Given the description of an element on the screen output the (x, y) to click on. 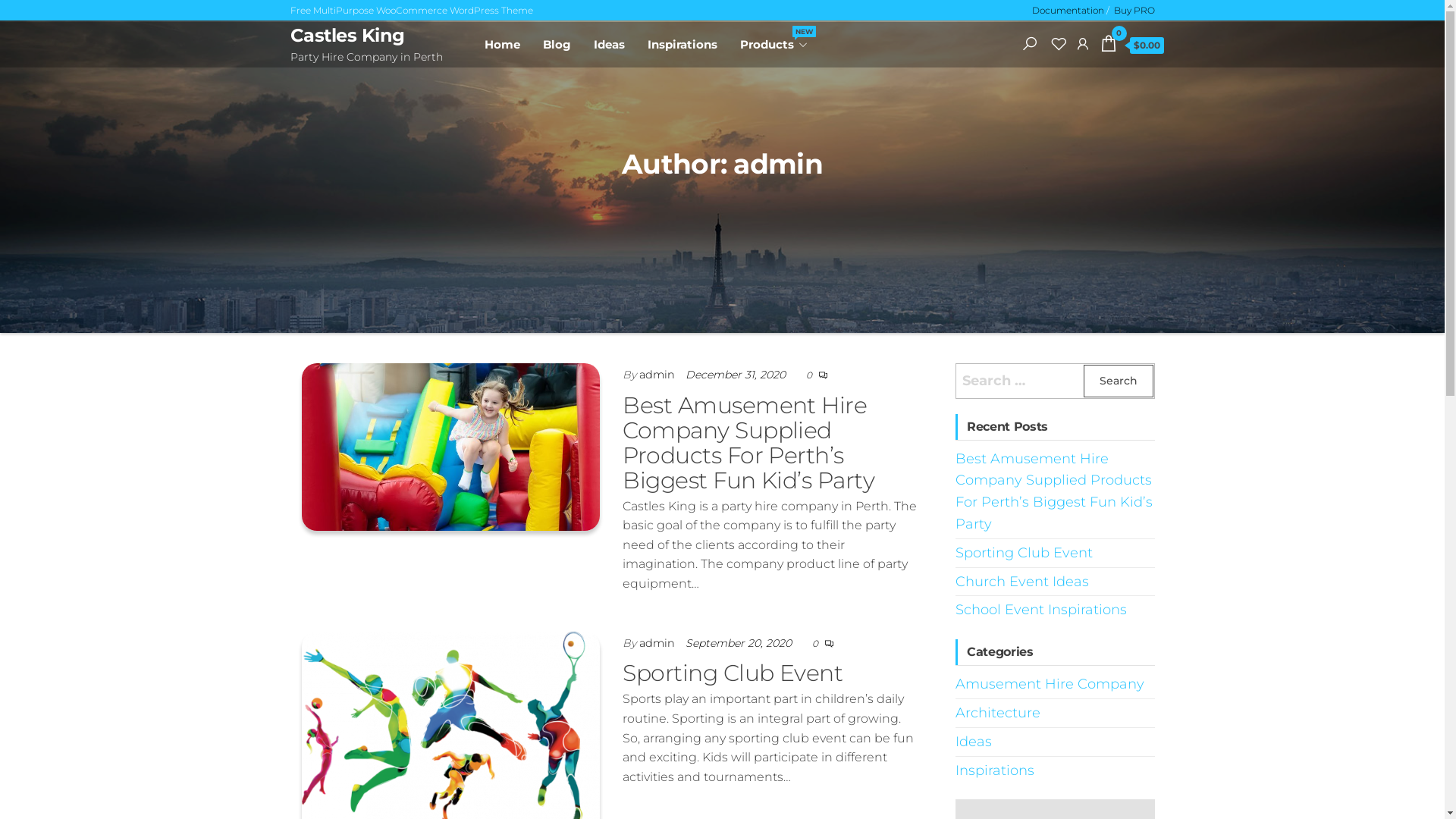
School Event Inspirations Element type: text (1040, 609)
Sporting Club Event Element type: hover (450, 732)
0 Element type: text (810, 374)
Documentation Element type: text (1067, 9)
0
$0.00 Element type: text (1130, 45)
Blog Element type: text (555, 44)
0 Element type: text (816, 643)
Church Event Ideas Element type: text (1021, 581)
Inspirations Element type: text (681, 44)
Buy PRO Element type: text (1133, 9)
Products
NEW Element type: text (768, 44)
Inspirations Element type: text (994, 770)
Amusement Hire Company Element type: text (1049, 683)
Search Element type: hover (1028, 43)
Sporting Club Event Element type: text (1023, 552)
My Account Element type: hover (1081, 43)
Ideas Element type: text (609, 44)
Architecture Element type: text (997, 712)
Home Element type: text (502, 44)
Sporting Club Event Element type: text (732, 672)
Search Element type: text (1117, 380)
Wishlist Element type: hover (1057, 43)
Ideas Element type: text (973, 741)
Castles King Element type: text (346, 35)
